Given the description of an element on the screen output the (x, y) to click on. 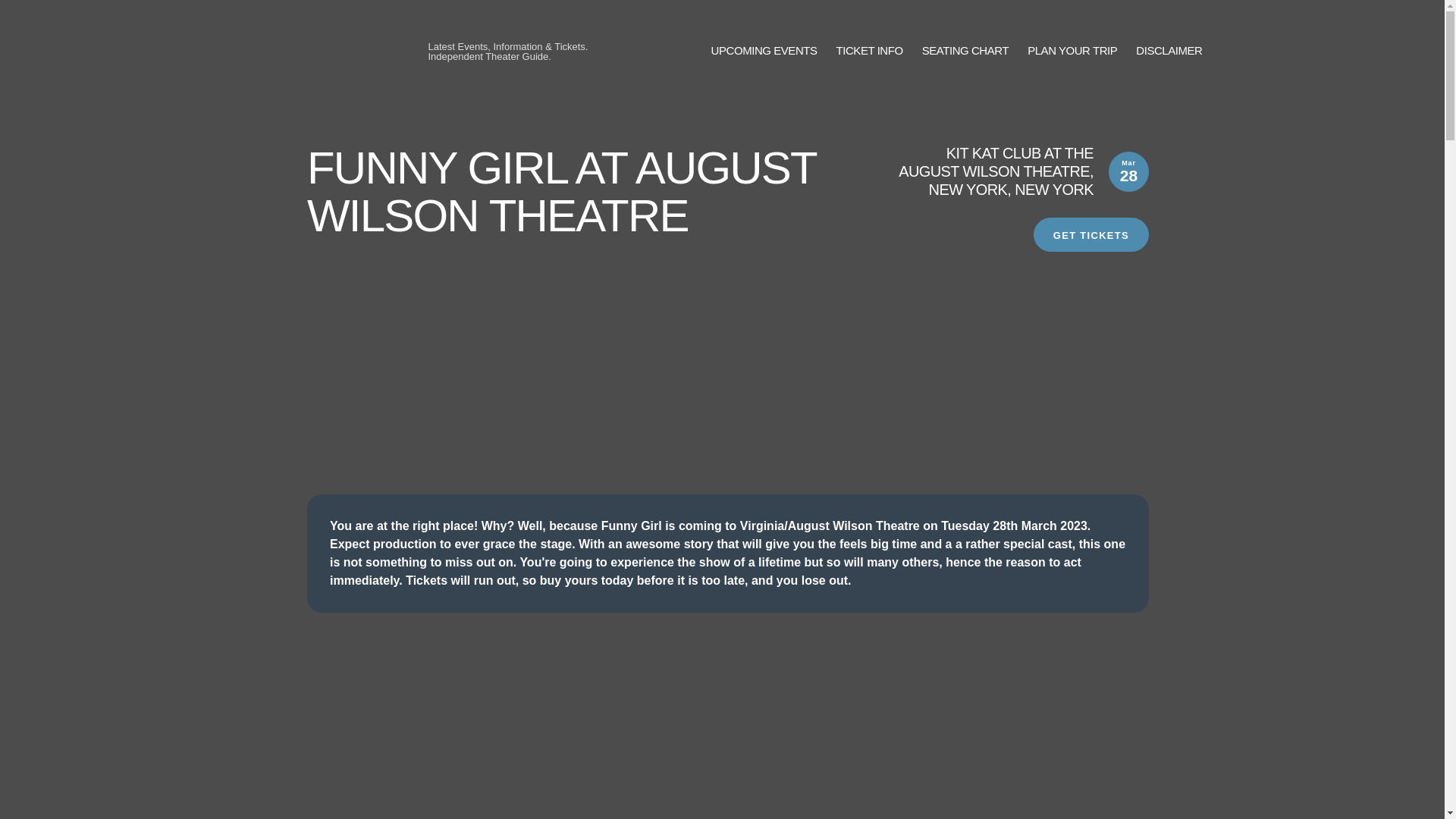
SEATING CHART (965, 50)
TICKET INFO (868, 50)
UPCOMING EVENTS (763, 50)
GET TICKETS (1090, 234)
PLAN YOUR TRIP (1071, 50)
DISCLAIMER (1168, 50)
